Given the description of an element on the screen output the (x, y) to click on. 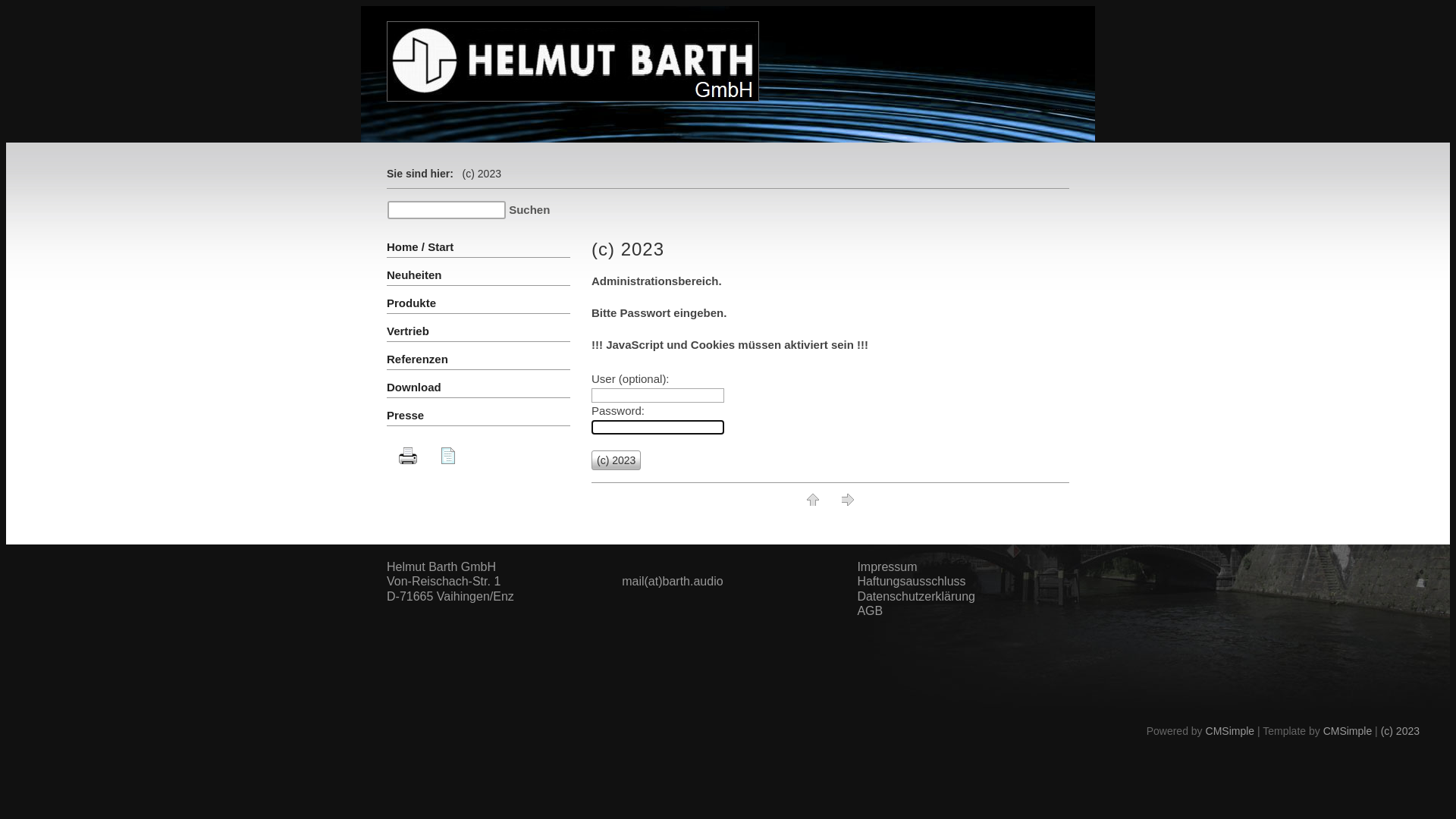
Presse Element type: text (404, 414)
Suchen Element type: text (528, 209)
Referenzen Element type: text (417, 358)
Produkte Element type: text (411, 302)
Druckansicht Element type: hover (407, 455)
CMSimple Element type: text (1230, 730)
Haftungsausschluss Element type: text (910, 580)
AGB Element type: text (869, 610)
(c) 2023 Element type: text (1399, 730)
Inhaltsverzeichnis Element type: hover (448, 455)
Download Element type: text (413, 386)
Home / Start Element type: text (419, 246)
CMSimple Element type: text (1347, 730)
Vertrieb Element type: text (407, 330)
(c) 2023 Element type: text (615, 460)
Neuheiten Element type: text (414, 274)
Impressum Element type: text (886, 566)
Seitenanfang Element type: hover (812, 499)
